Given the description of an element on the screen output the (x, y) to click on. 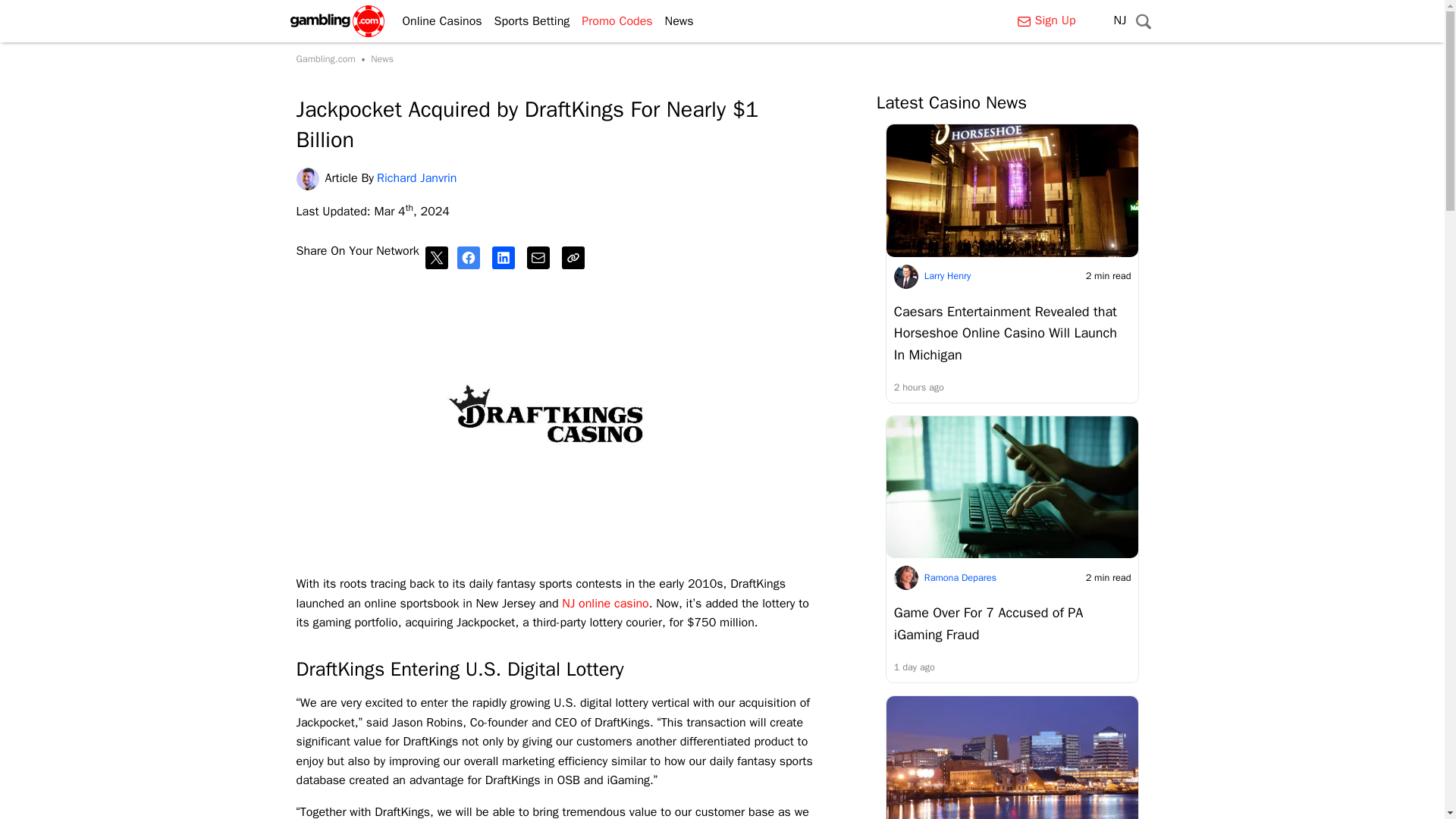
Copy URL (576, 257)
Richard Janvrin (309, 178)
Sports Betting (525, 21)
Larry Henry (947, 275)
Online Casinos (435, 21)
Ramona Depares (959, 577)
